Given the description of an element on the screen output the (x, y) to click on. 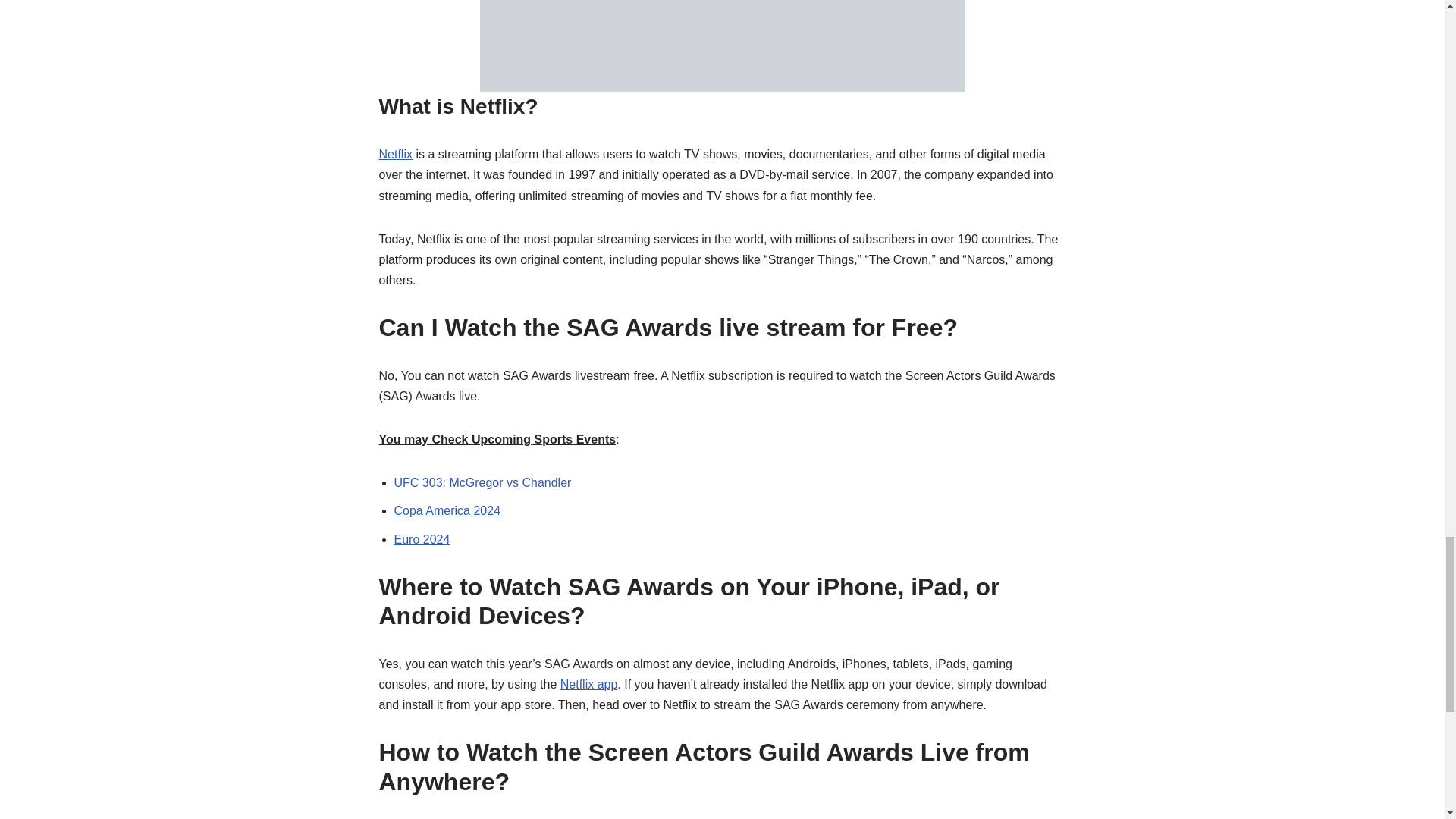
Copa America 2024 (447, 510)
Euro 2024 (421, 539)
Netflix app (588, 684)
Netflix (395, 154)
UFC 303: McGregor vs Chandler (483, 481)
